Given the description of an element on the screen output the (x, y) to click on. 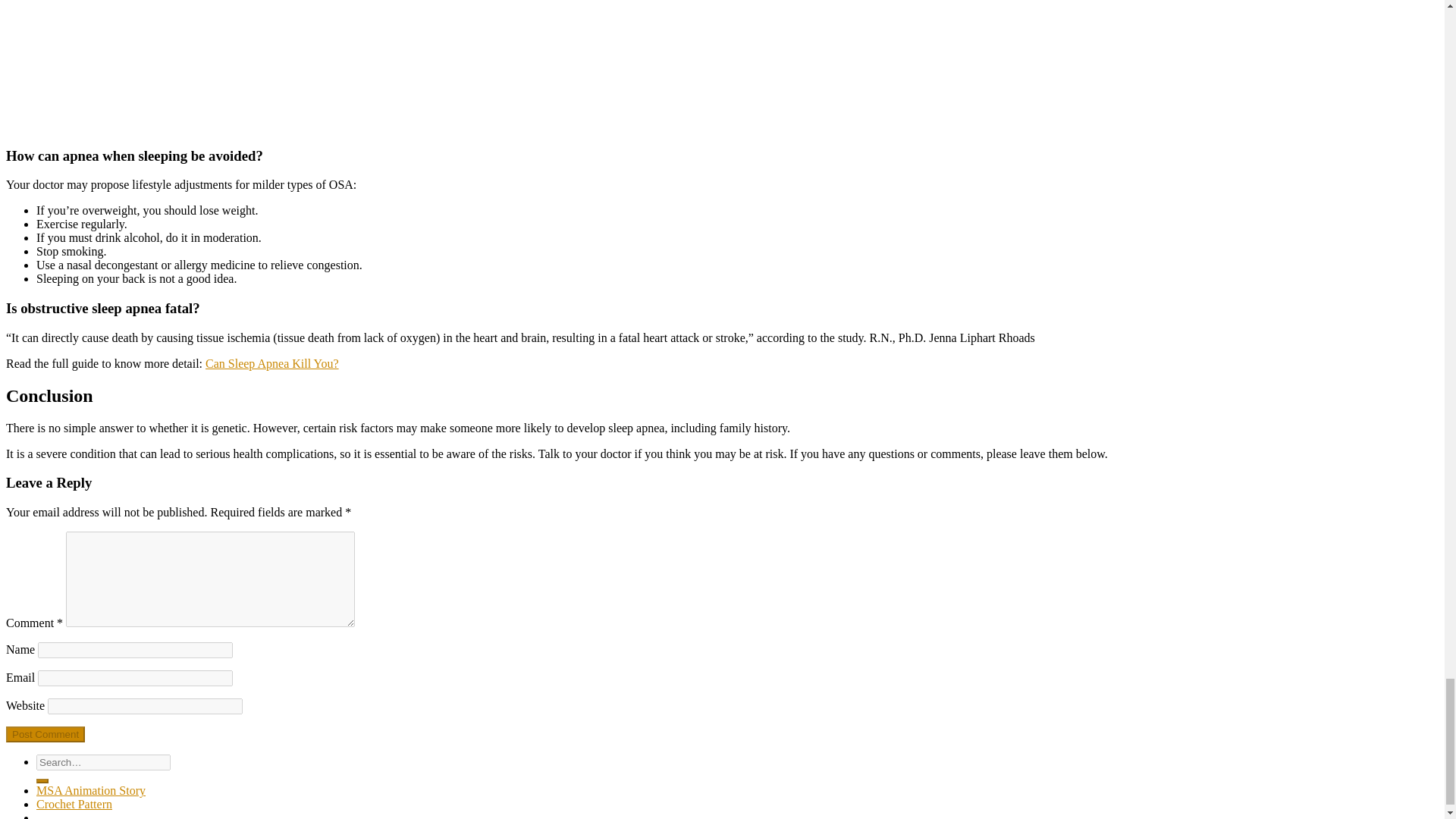
Crochet Pattern (74, 803)
Post Comment (44, 734)
Can Sleep Apnea Kill You? (272, 363)
Post Comment (44, 734)
MSA Animation Story (90, 789)
